Given the description of an element on the screen output the (x, y) to click on. 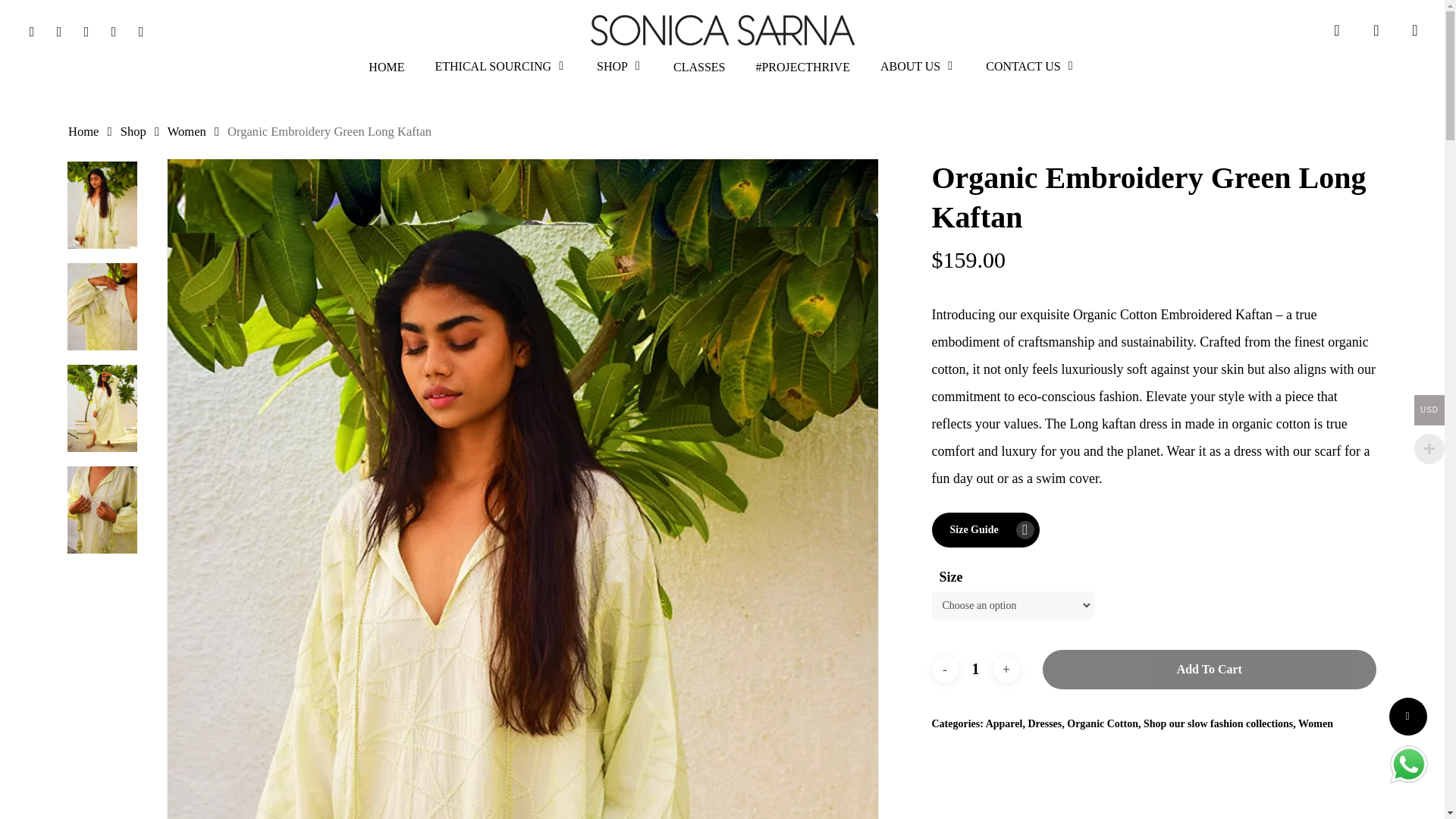
INSTAGRAM (141, 29)
Qty (975, 669)
HOME (386, 74)
CLASSES (698, 74)
PINTEREST (86, 29)
SHOP (619, 74)
ETHICAL SOURCING (499, 74)
TWITTER (31, 29)
account (1376, 30)
